Given the description of an element on the screen output the (x, y) to click on. 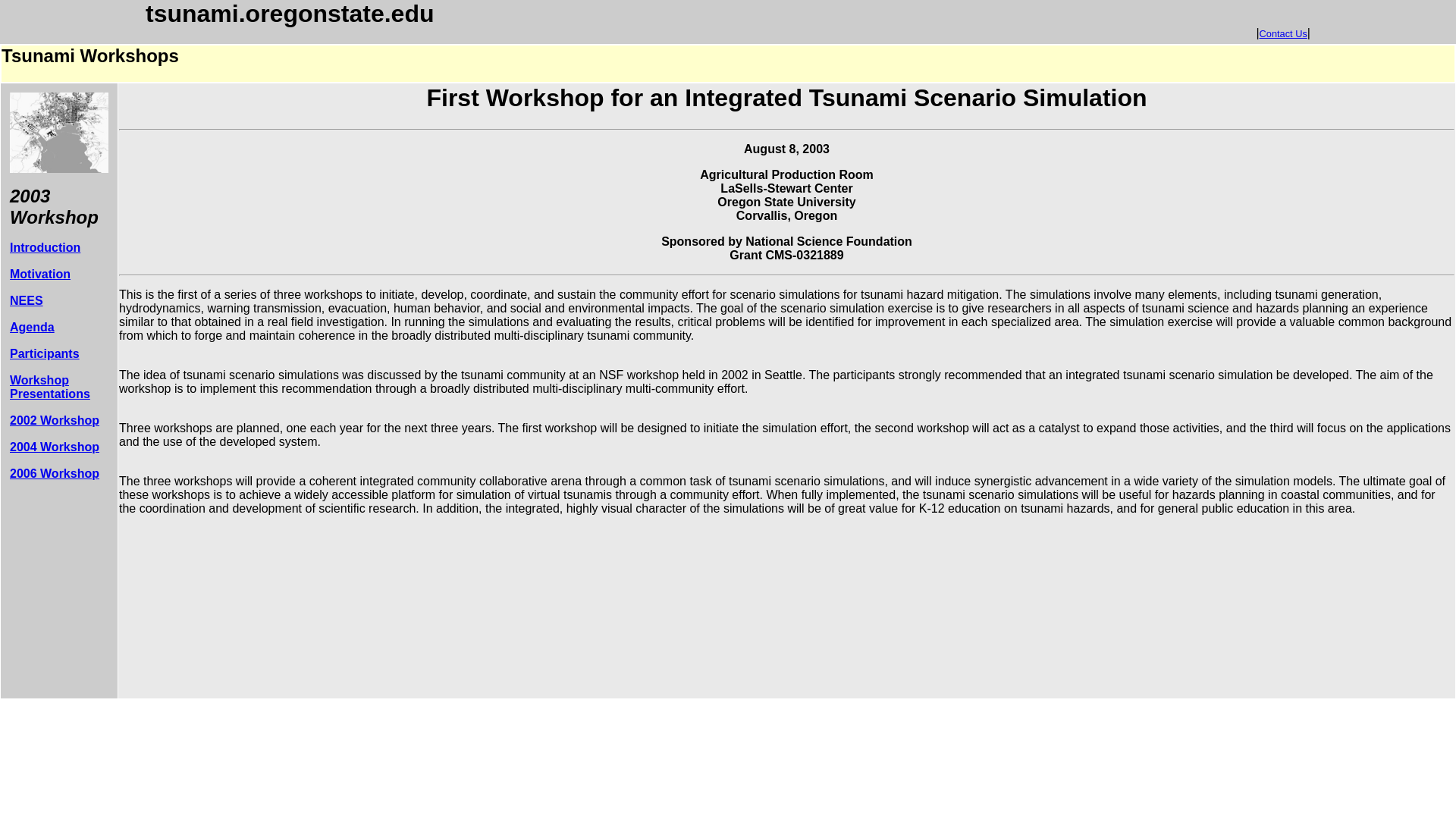
2006 Workshop (54, 472)
Agenda (32, 327)
Motivation (39, 273)
Introduction (45, 246)
2004 Workshop (54, 446)
NEES (26, 300)
Contact Us (1283, 33)
Workshop Presentations (50, 386)
2002 Workshop (54, 420)
Participants (45, 353)
